Given the description of an element on the screen output the (x, y) to click on. 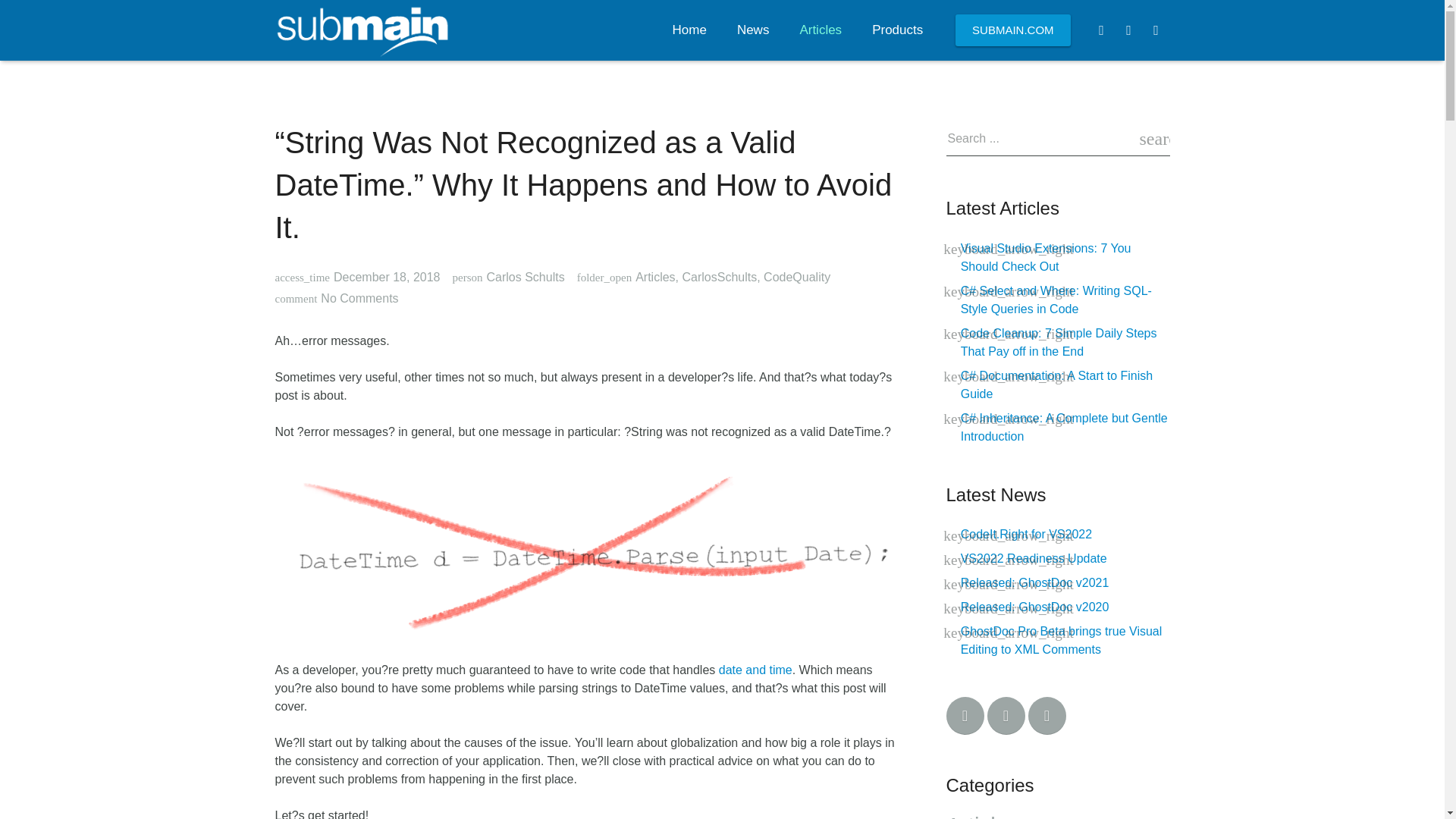
Products (897, 30)
Articles (654, 277)
Articles (820, 30)
date and time (755, 669)
News (753, 30)
Carlos Schults (525, 277)
Home (690, 30)
No Comments (358, 297)
CarlosSchults (719, 277)
SUBMAIN.COM (1013, 29)
